Given the description of an element on the screen output the (x, y) to click on. 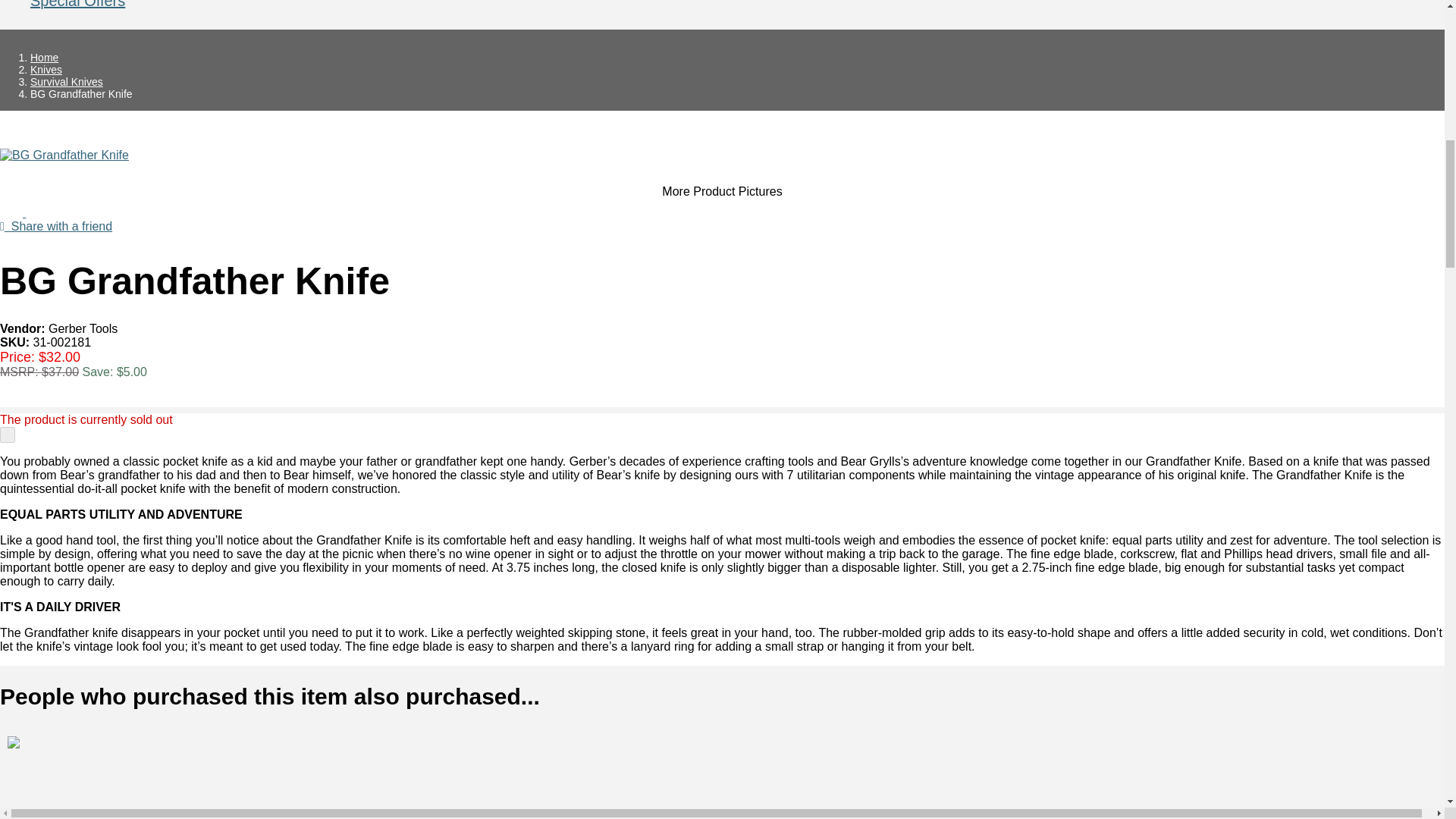
Home (44, 57)
 Share with a friend (56, 226)
Knives (46, 69)
Survival Knives (66, 81)
